Given the description of an element on the screen output the (x, y) to click on. 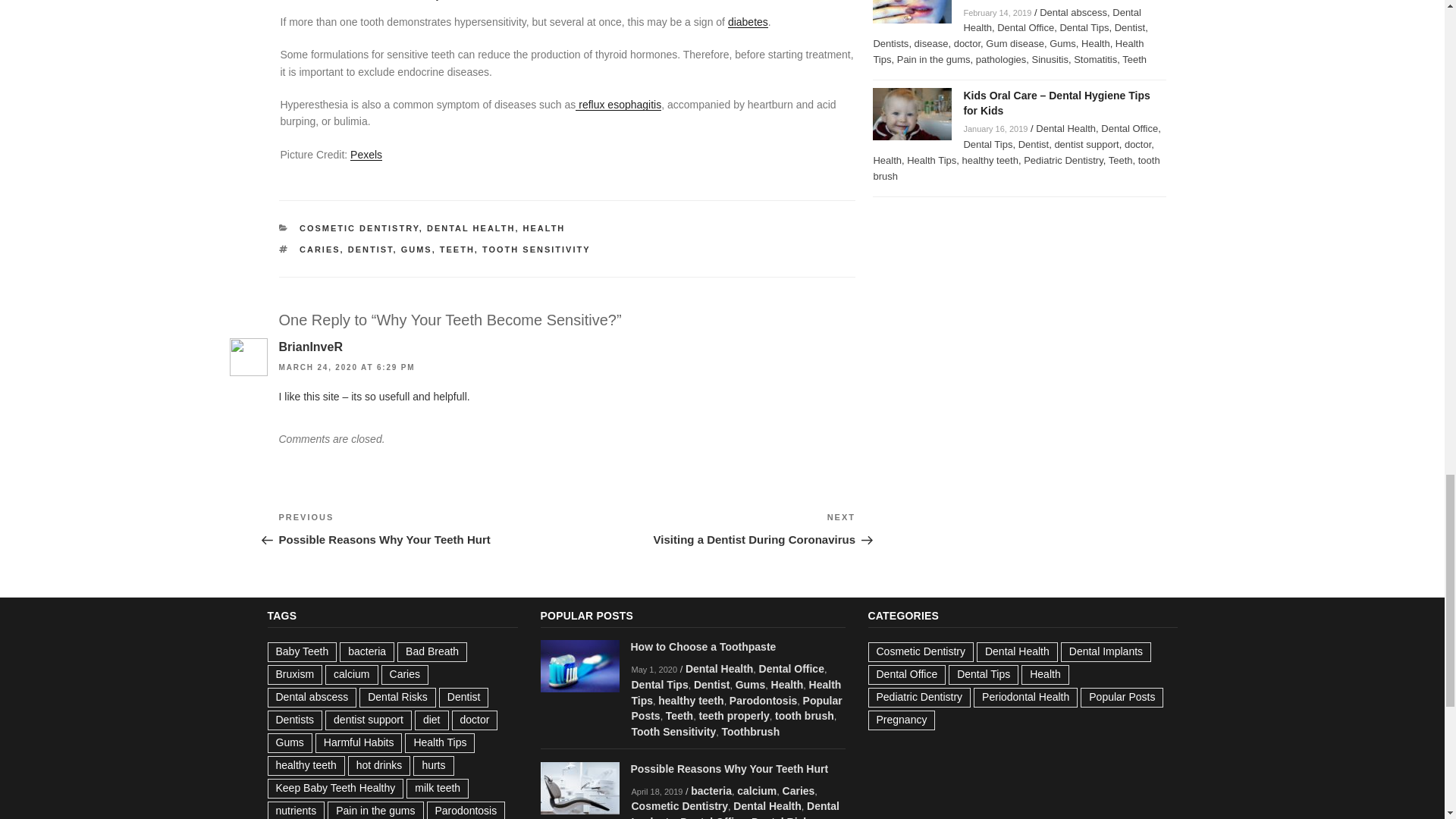
CARIES (319, 248)
TOOTH SENSITIVITY (536, 248)
DENTIST (370, 248)
DENTAL HEALTH (423, 529)
COSMETIC DENTISTRY (470, 227)
GUMS (711, 529)
HEALTH (359, 227)
TEETH (416, 248)
reflux esophagitis (544, 227)
MARCH 24, 2020 AT 6:29 PM (456, 248)
diabetes (618, 104)
Pexels (346, 367)
